Given the description of an element on the screen output the (x, y) to click on. 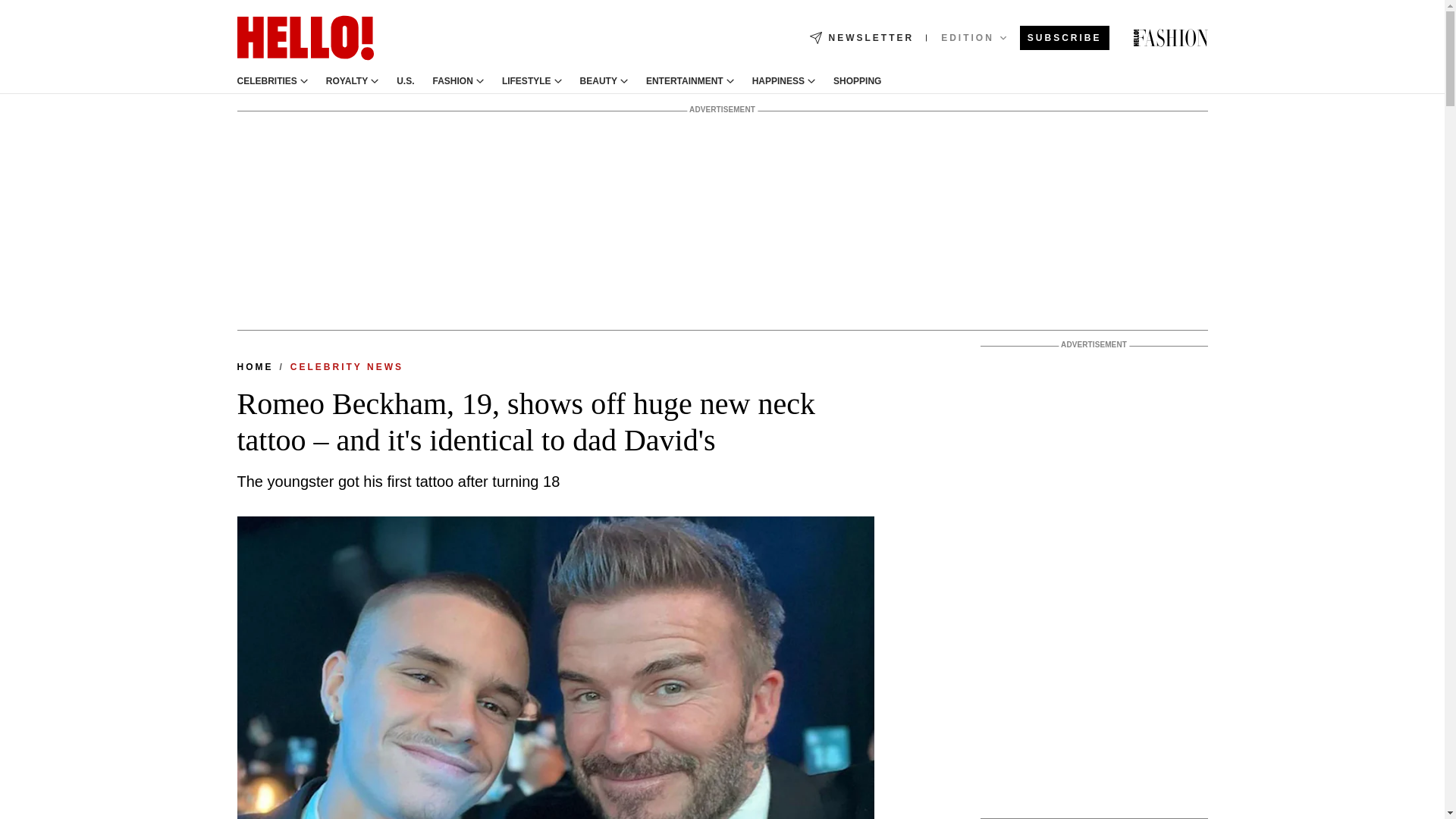
NEWSLETTER (861, 38)
CELEBRITIES (266, 81)
BEAUTY (598, 81)
ROYALTY (347, 81)
FASHION (452, 81)
U.S. (404, 81)
